Given the description of an element on the screen output the (x, y) to click on. 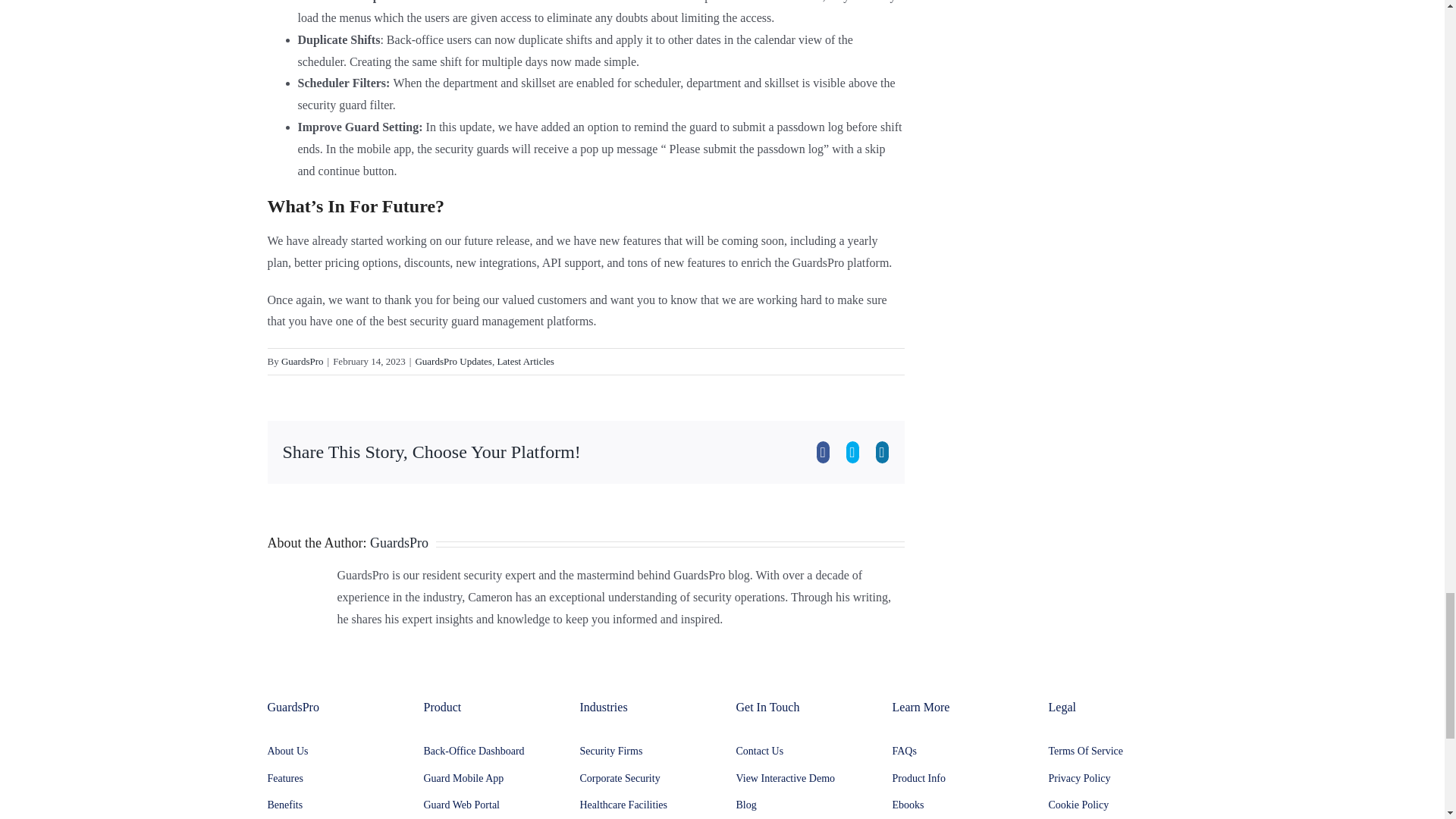
Posts by GuardsPro (398, 542)
Posts by GuardsPro (302, 360)
